Given the description of an element on the screen output the (x, y) to click on. 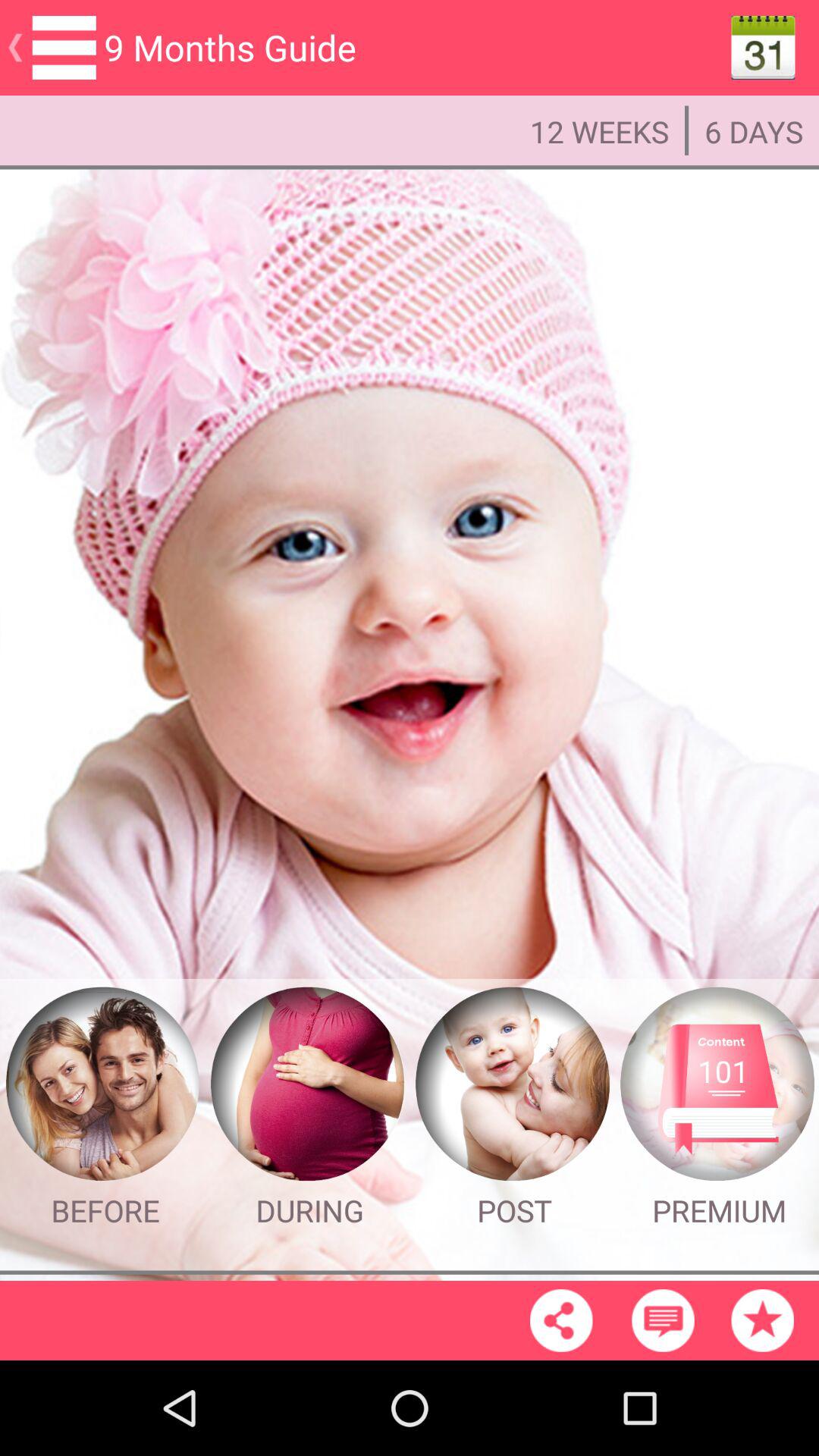
post to a social media group (511, 1084)
